Given the description of an element on the screen output the (x, y) to click on. 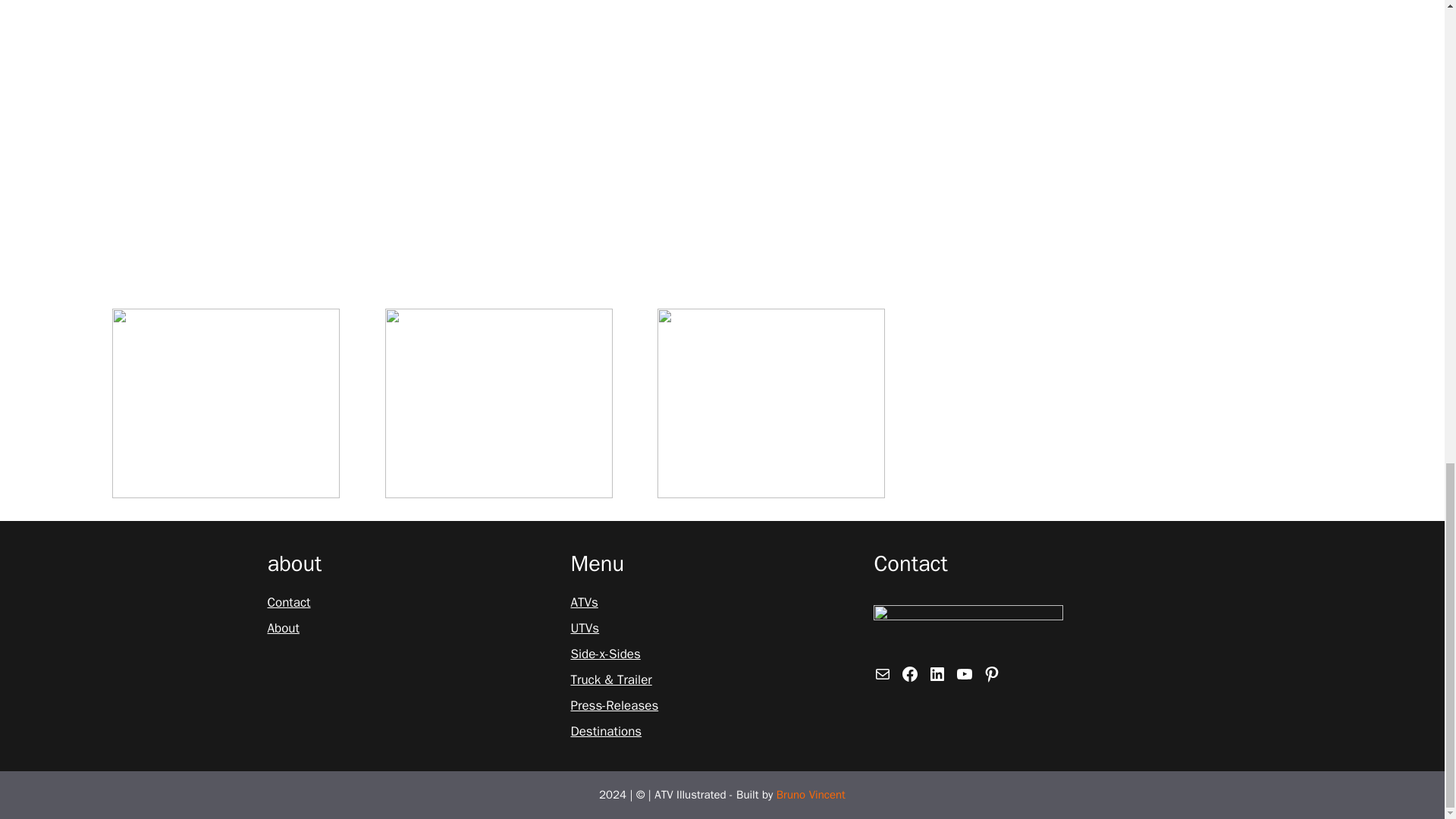
Contact (288, 602)
UTVs (584, 628)
Side-x-Sides (605, 654)
Destinations (606, 731)
Logo-250-w (967, 629)
About (282, 628)
ATVs (583, 602)
Press-Releases (614, 705)
